Given the description of an element on the screen output the (x, y) to click on. 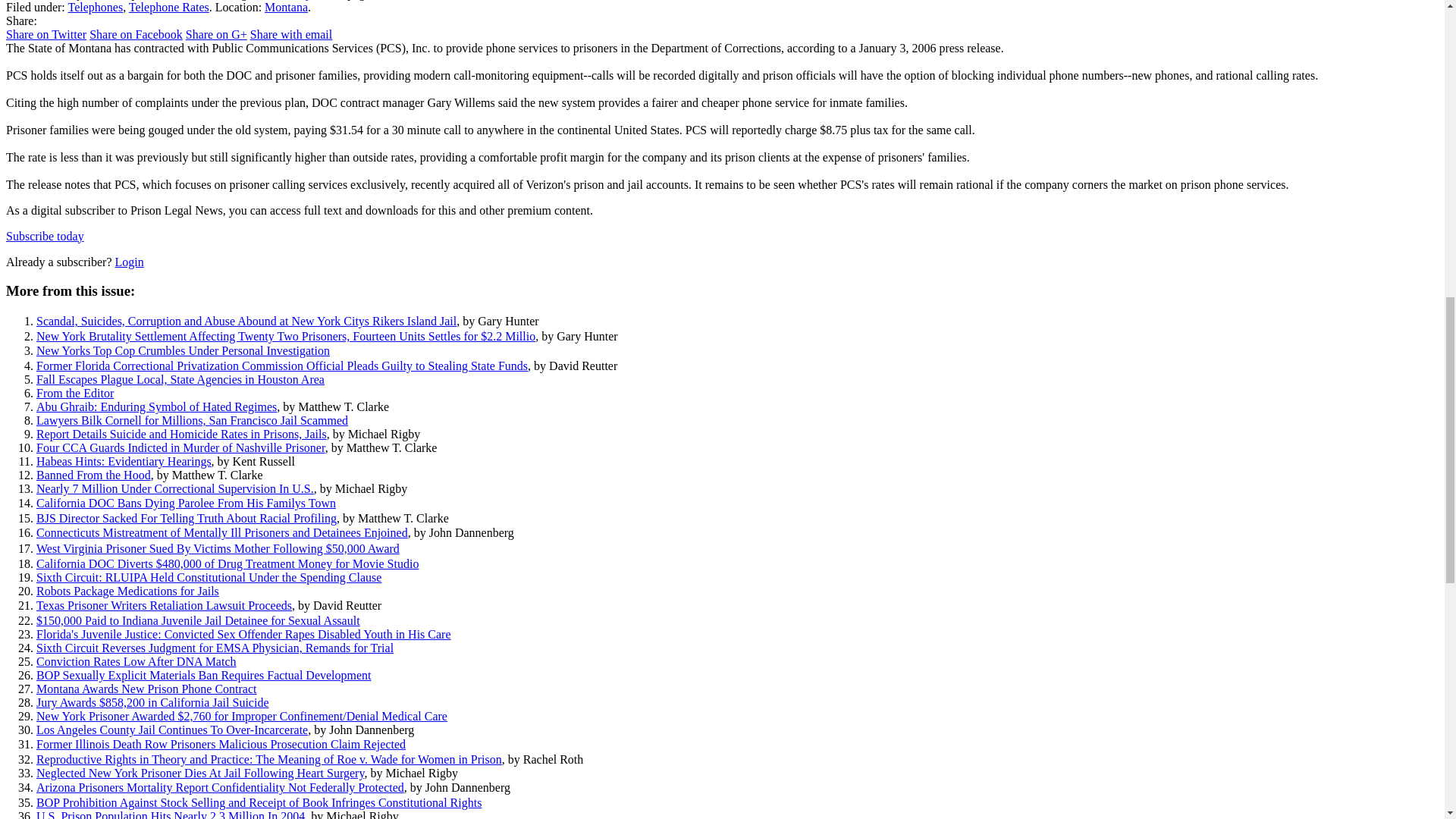
Share on Facebook (135, 33)
Share on Twitter (45, 33)
Telephones (94, 6)
Share with email (290, 33)
